Given the description of an element on the screen output the (x, y) to click on. 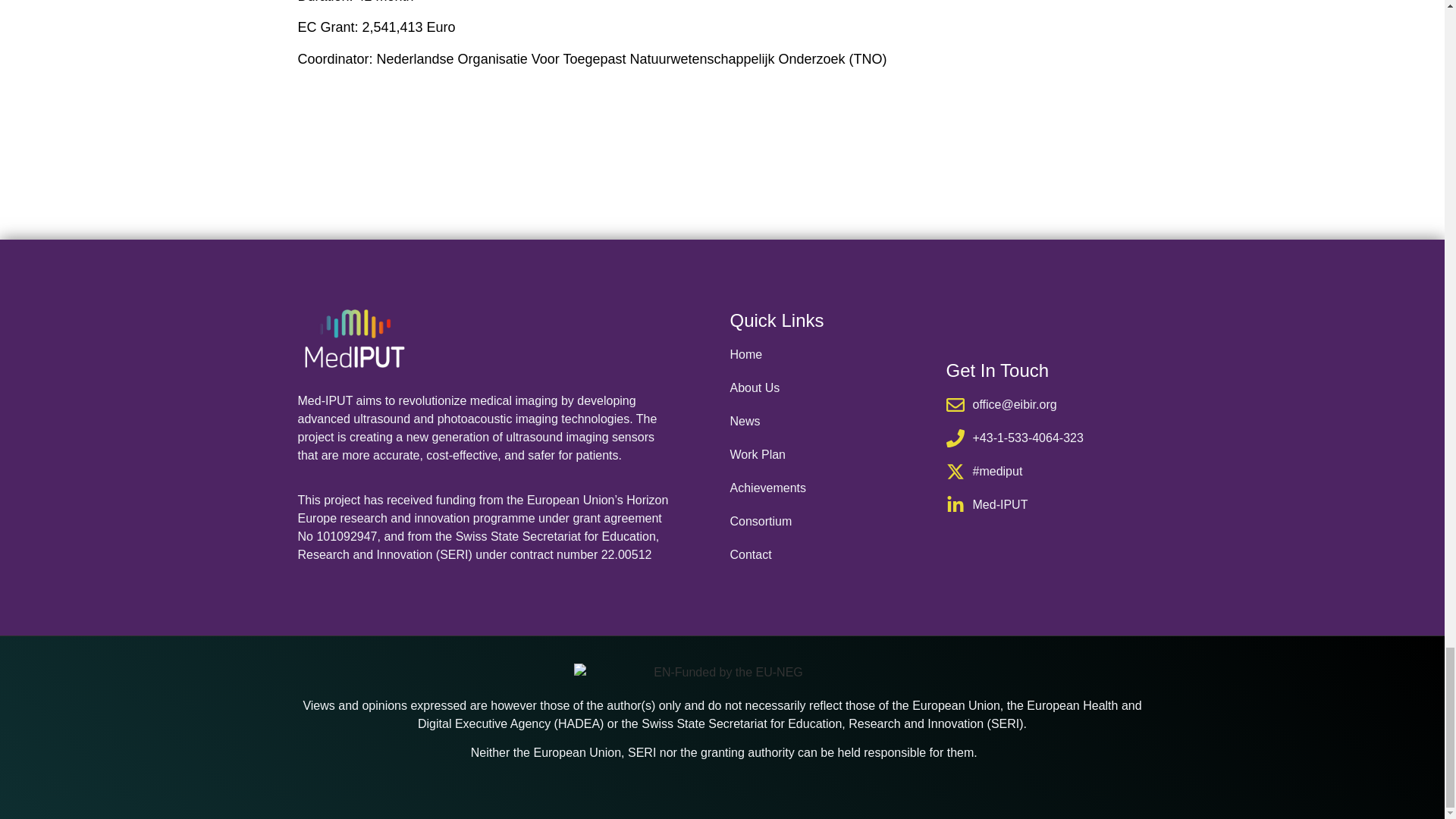
EN-Funded by the EU-NEG (721, 672)
Med-IPUT (1046, 505)
Home (829, 354)
About Us (829, 388)
Consortium (829, 521)
Achievements (829, 488)
News (829, 421)
Work Plan (829, 454)
Contact (829, 555)
